Given the description of an element on the screen output the (x, y) to click on. 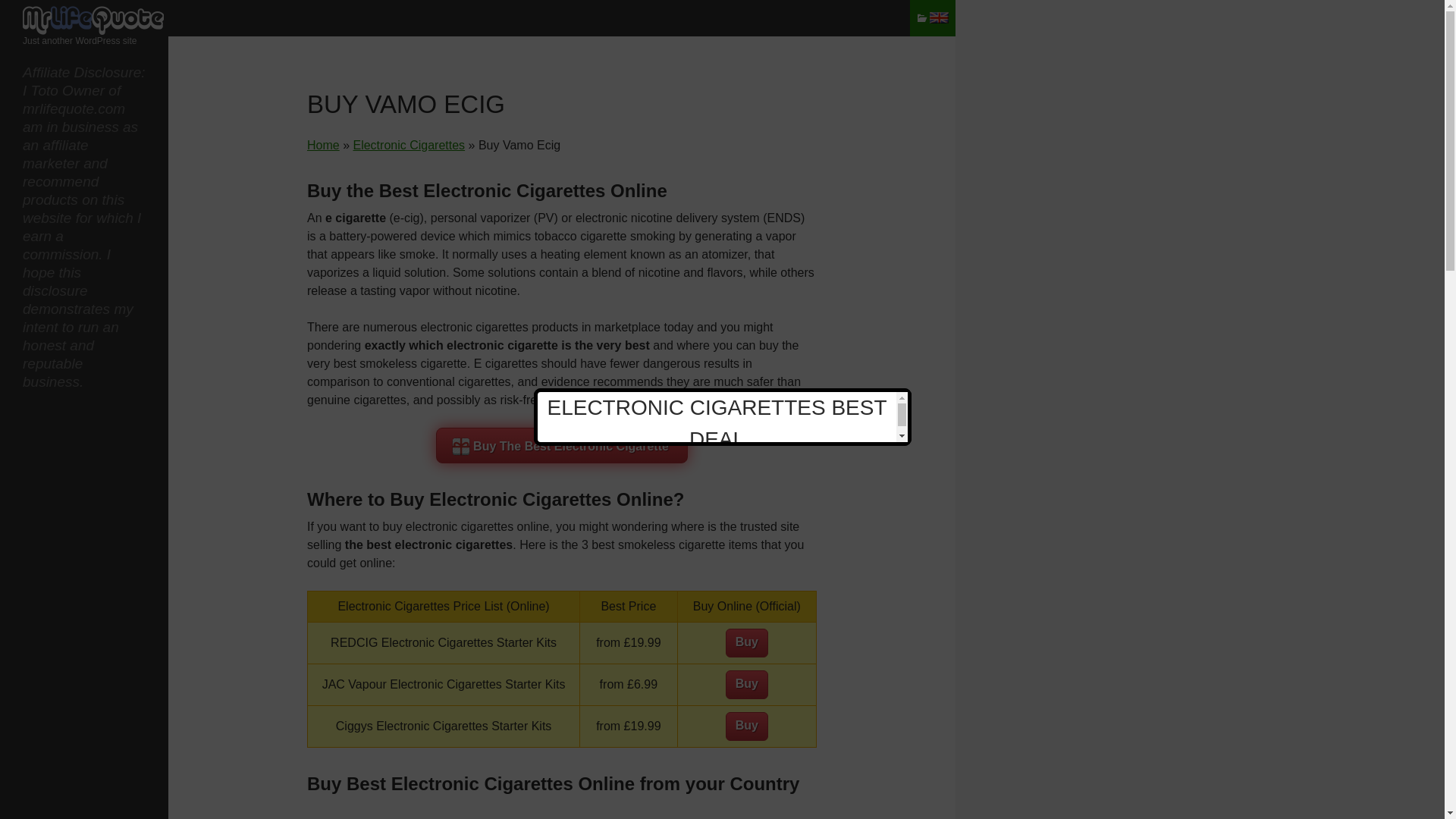
Buy Electronic Cigarettes Online  (408, 144)
Electronic Cigarettes (408, 144)
CLOSE (893, 399)
Home (323, 144)
